Given the description of an element on the screen output the (x, y) to click on. 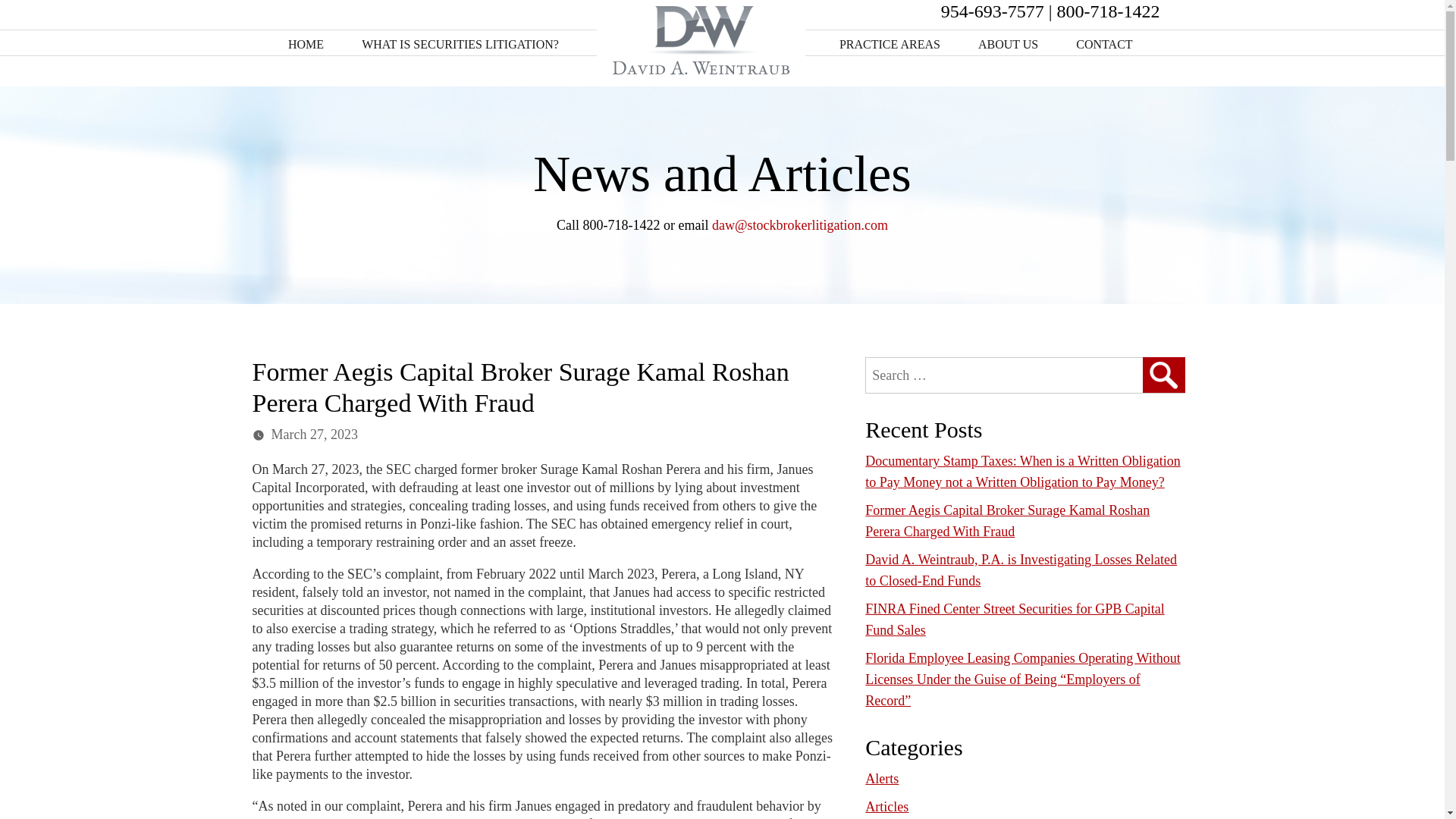
ABOUT US (1008, 43)
Search (1163, 375)
March 27, 2023 (314, 434)
Search (1163, 375)
WHAT IS SECURITIES LITIGATION? (460, 43)
Search (1163, 375)
CONTACT (1103, 43)
HOME (305, 43)
PRACTICE AREAS (890, 43)
